Given the description of an element on the screen output the (x, y) to click on. 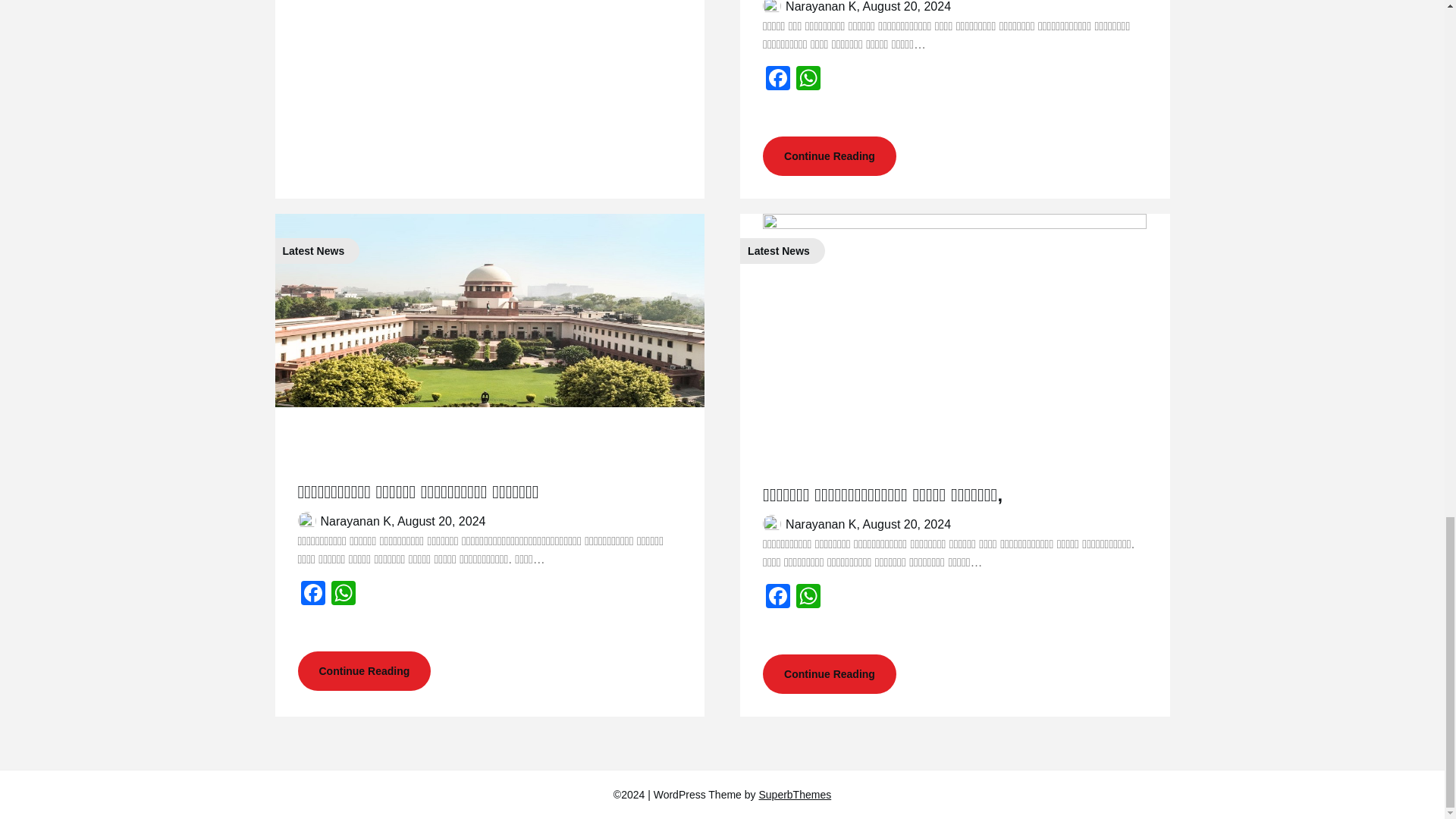
WhatsApp (342, 594)
Facebook (777, 80)
WhatsApp (808, 597)
Continue Reading (363, 671)
August 20, 2024 (441, 521)
Facebook (312, 594)
WhatsApp (342, 594)
WhatsApp (808, 80)
Facebook (777, 597)
August 20, 2024 (907, 6)
